Given the description of an element on the screen output the (x, y) to click on. 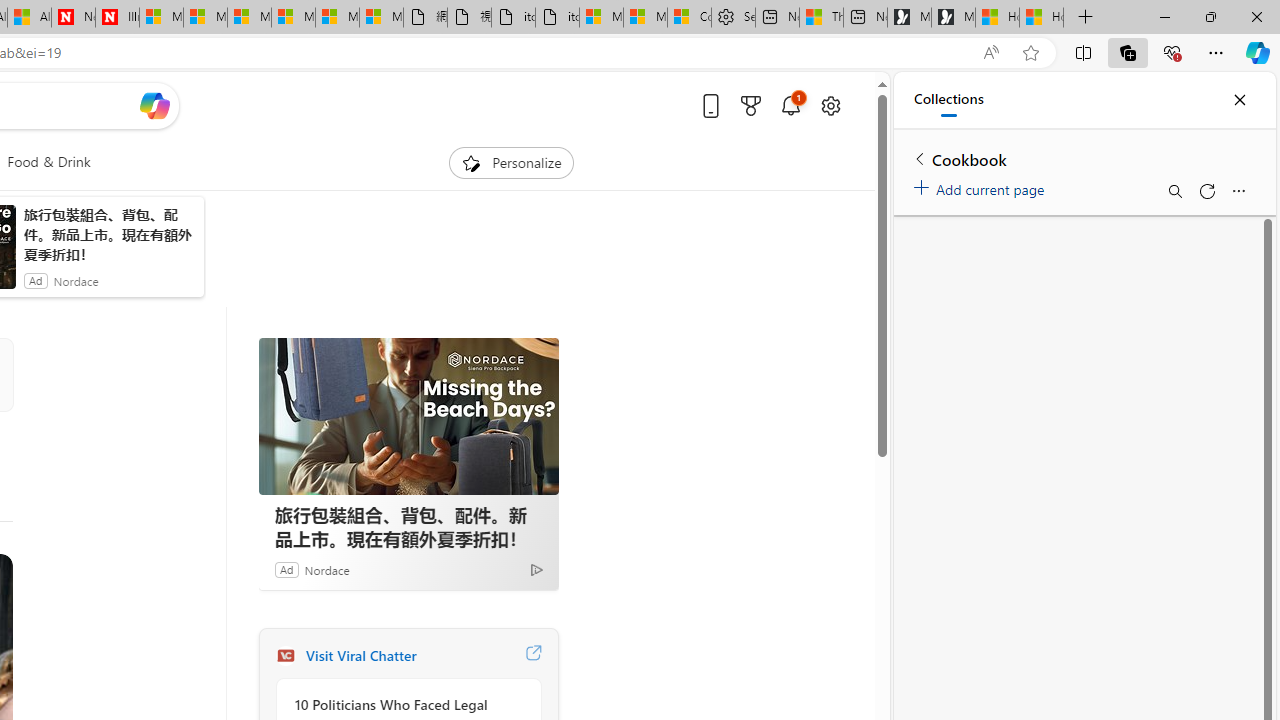
Ad Choice (535, 569)
Illness news & latest pictures from Newsweek.com (117, 17)
Personalize (511, 162)
Refresh (1206, 190)
More options menu (1238, 190)
Consumer Health Data Privacy Policy (689, 17)
Settings (733, 17)
Microsoft account | Privacy (644, 17)
Split screen (1083, 52)
Viral Chatter (285, 655)
Visit Viral Chatter website (532, 655)
Back to list of collections (920, 158)
Notifications (790, 105)
Nordace (326, 569)
